Given the description of an element on the screen output the (x, y) to click on. 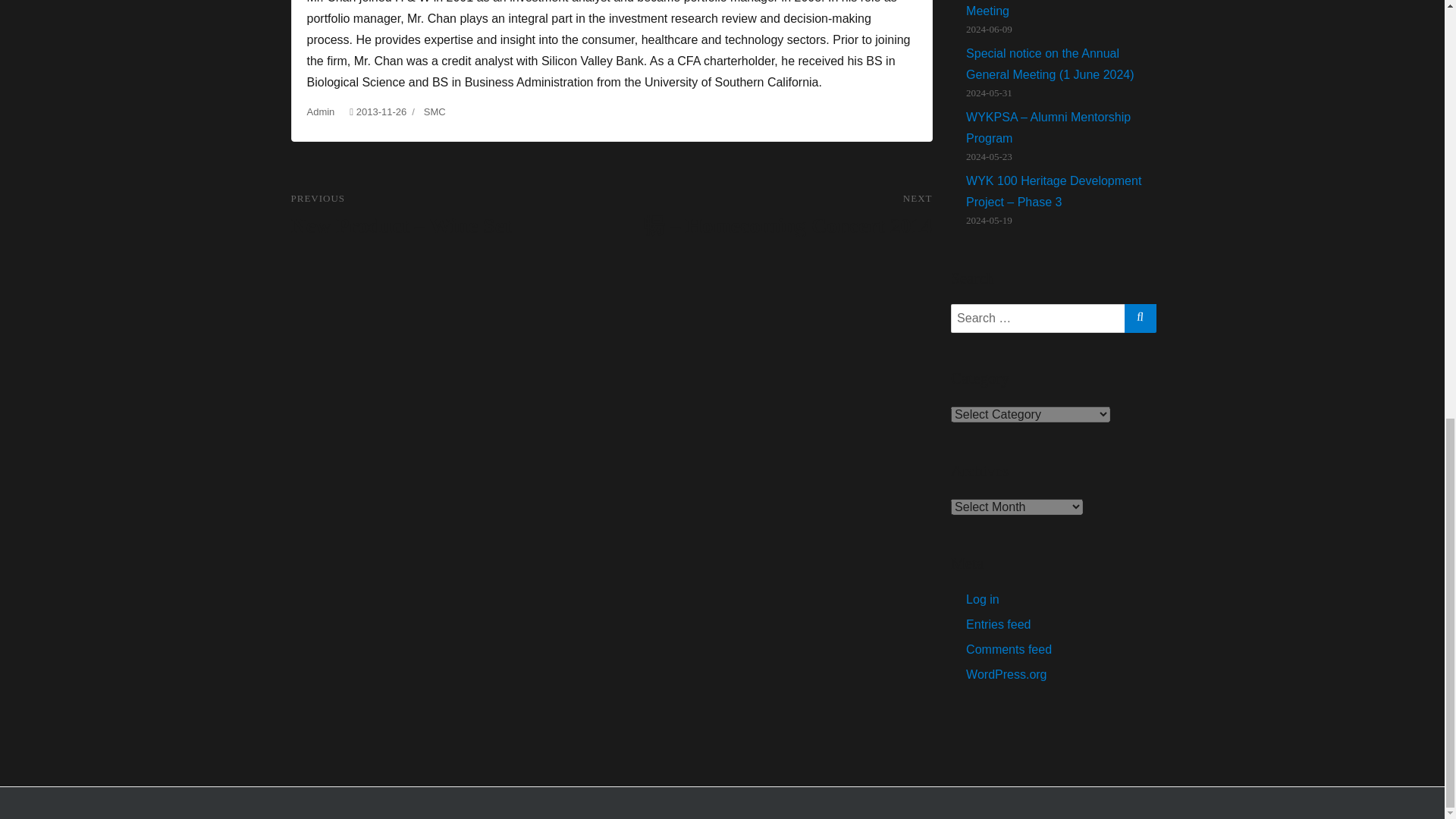
SMC (434, 111)
Admin (319, 111)
SEARCH (1140, 316)
Comments feed (1008, 649)
Entries feed (998, 624)
2013-11-26 (381, 111)
WordPress.org (1006, 674)
Log in (982, 599)
